Given the description of an element on the screen output the (x, y) to click on. 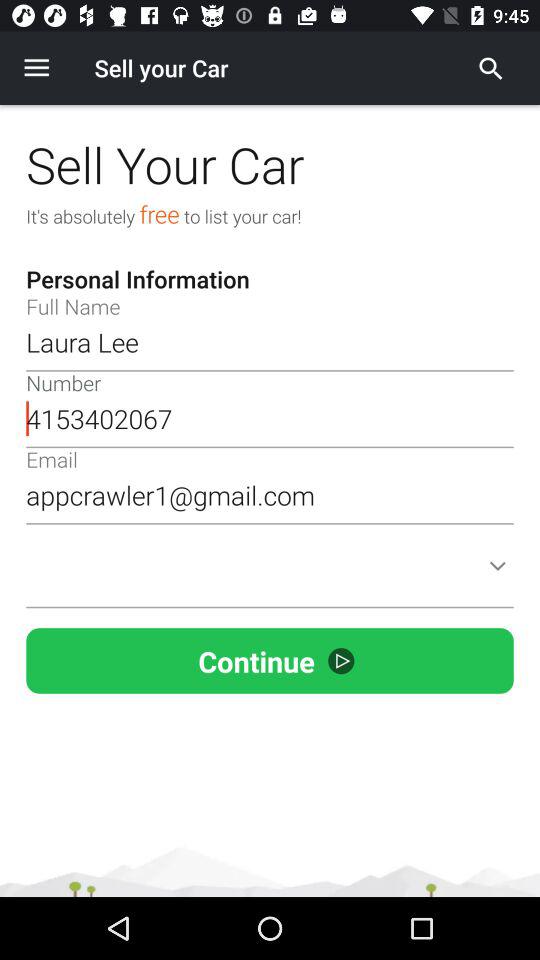
tap the laura lee (269, 342)
